Given the description of an element on the screen output the (x, y) to click on. 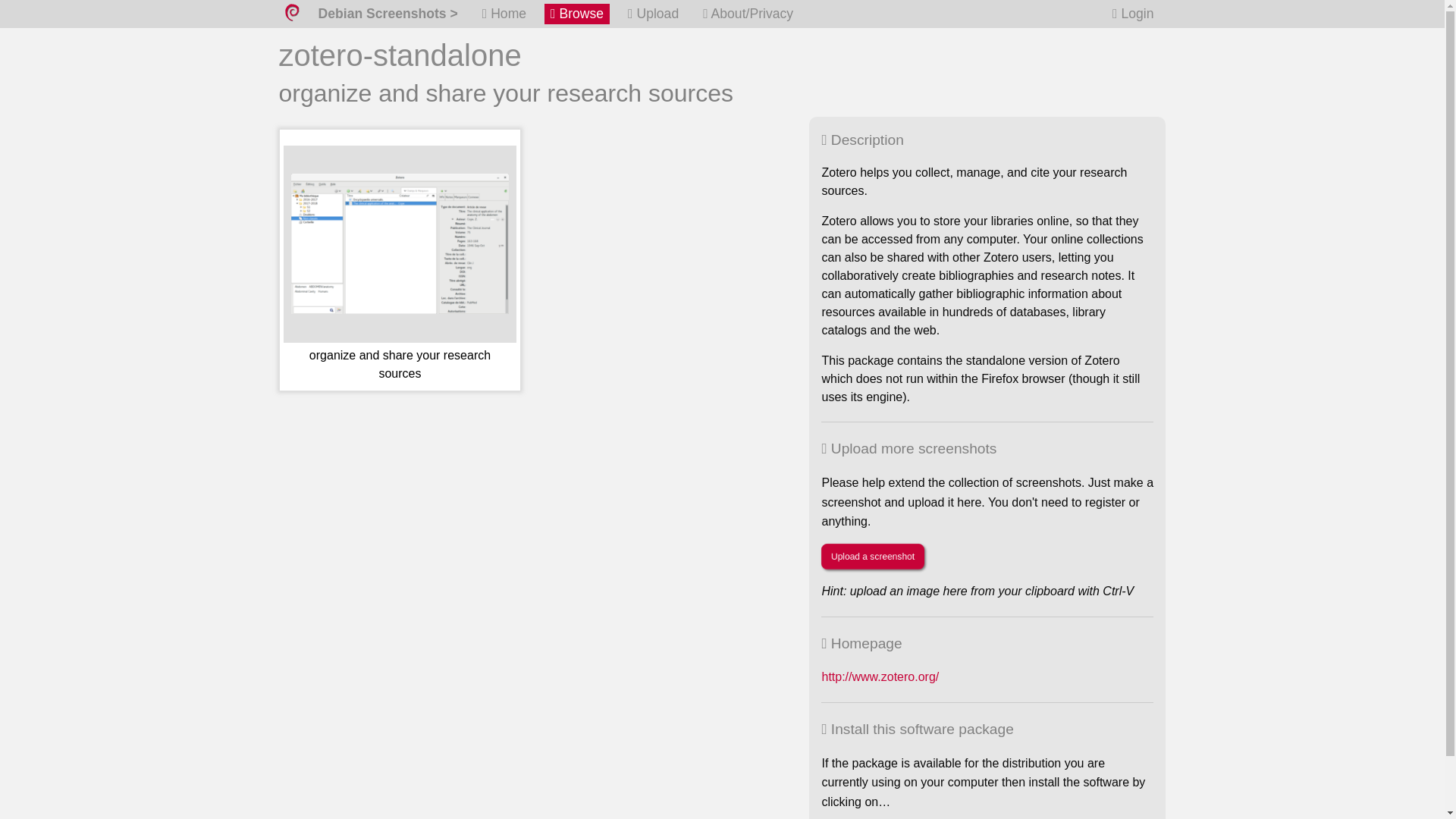
Upload a screenshot (872, 556)
organize and share your research sources (399, 265)
Home (504, 14)
Browse (577, 14)
organize and share your research sources (399, 265)
Upload (652, 14)
Login (1132, 14)
